Given the description of an element on the screen output the (x, y) to click on. 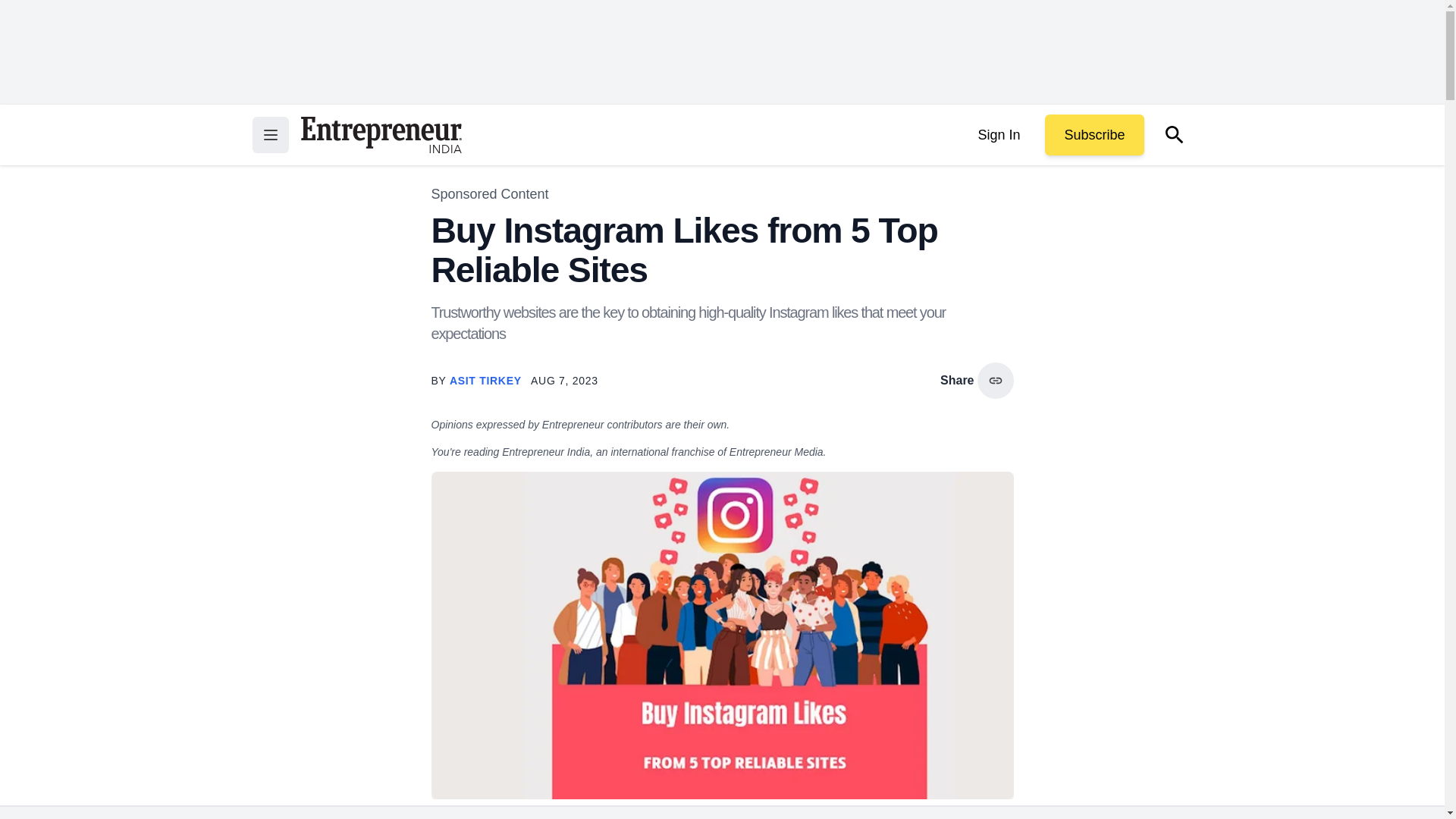
Return to the home page (380, 135)
Sign In (998, 134)
Subscribe (1093, 134)
copy (994, 380)
